Given the description of an element on the screen output the (x, y) to click on. 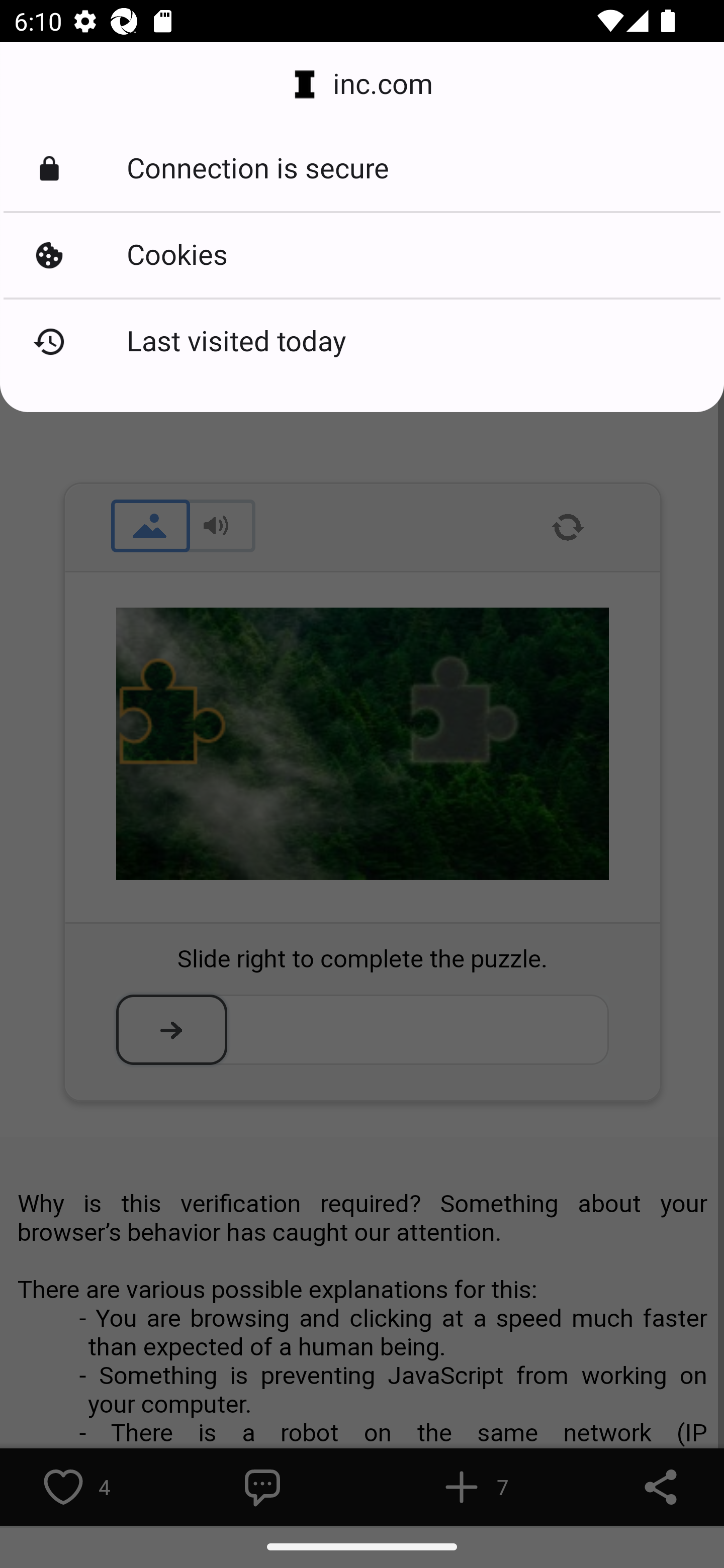
inc.com (362, 84)
Connection is secure (362, 169)
Cookies (362, 255)
Last visited today (362, 341)
